Given the description of an element on the screen output the (x, y) to click on. 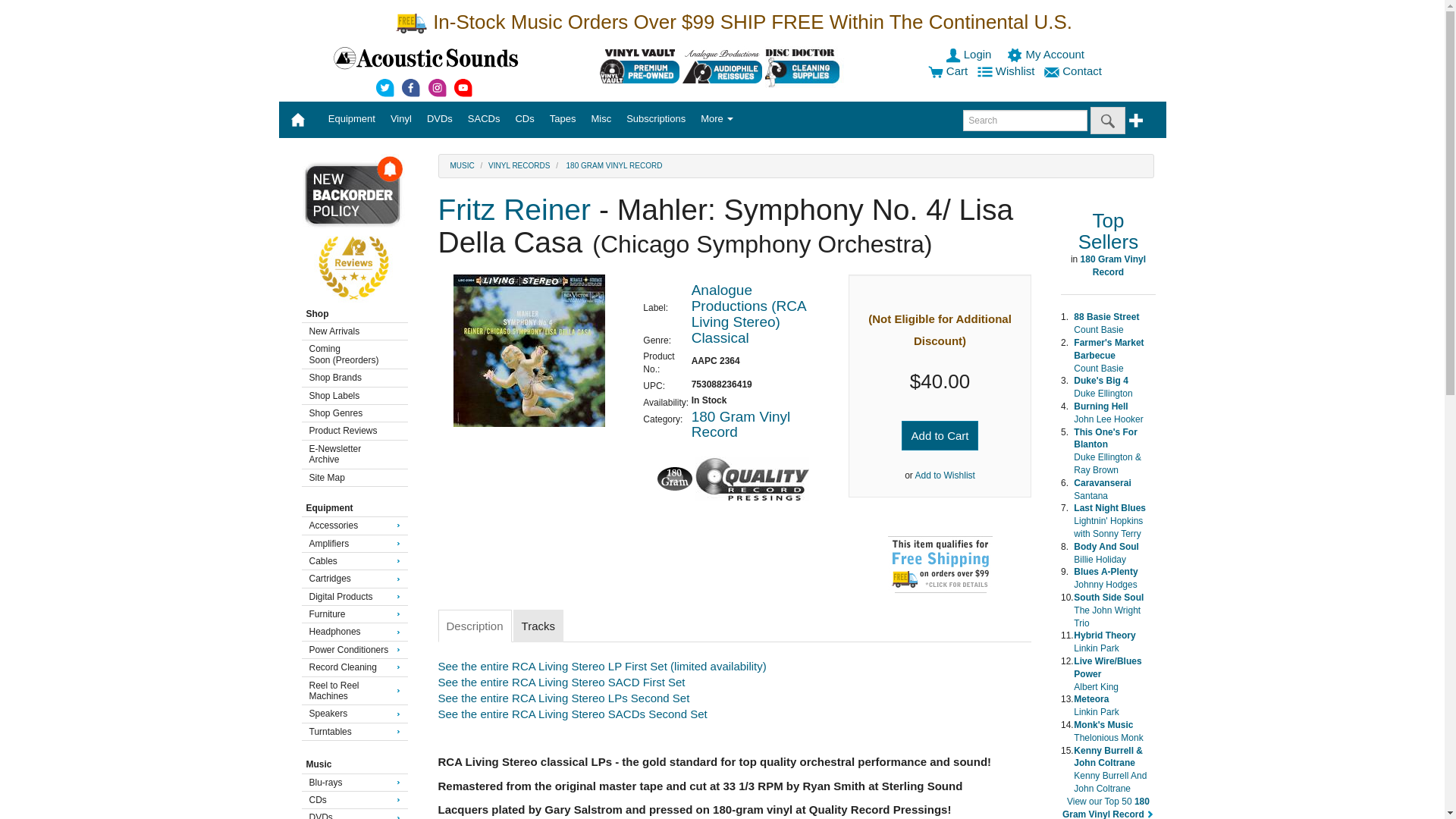
Wishlist (1007, 70)
My Account (1047, 53)
Analogue Productions (721, 65)
Music (461, 165)
Wishlist (1007, 70)
My Account (1047, 53)
contact (1074, 70)
Used Vinyl Records (639, 65)
Contact (1074, 70)
Cart (948, 70)
Disc Doctor Vinyl Cleaning Supplies (804, 65)
Login (969, 53)
Equipment (351, 118)
